Given the description of an element on the screen output the (x, y) to click on. 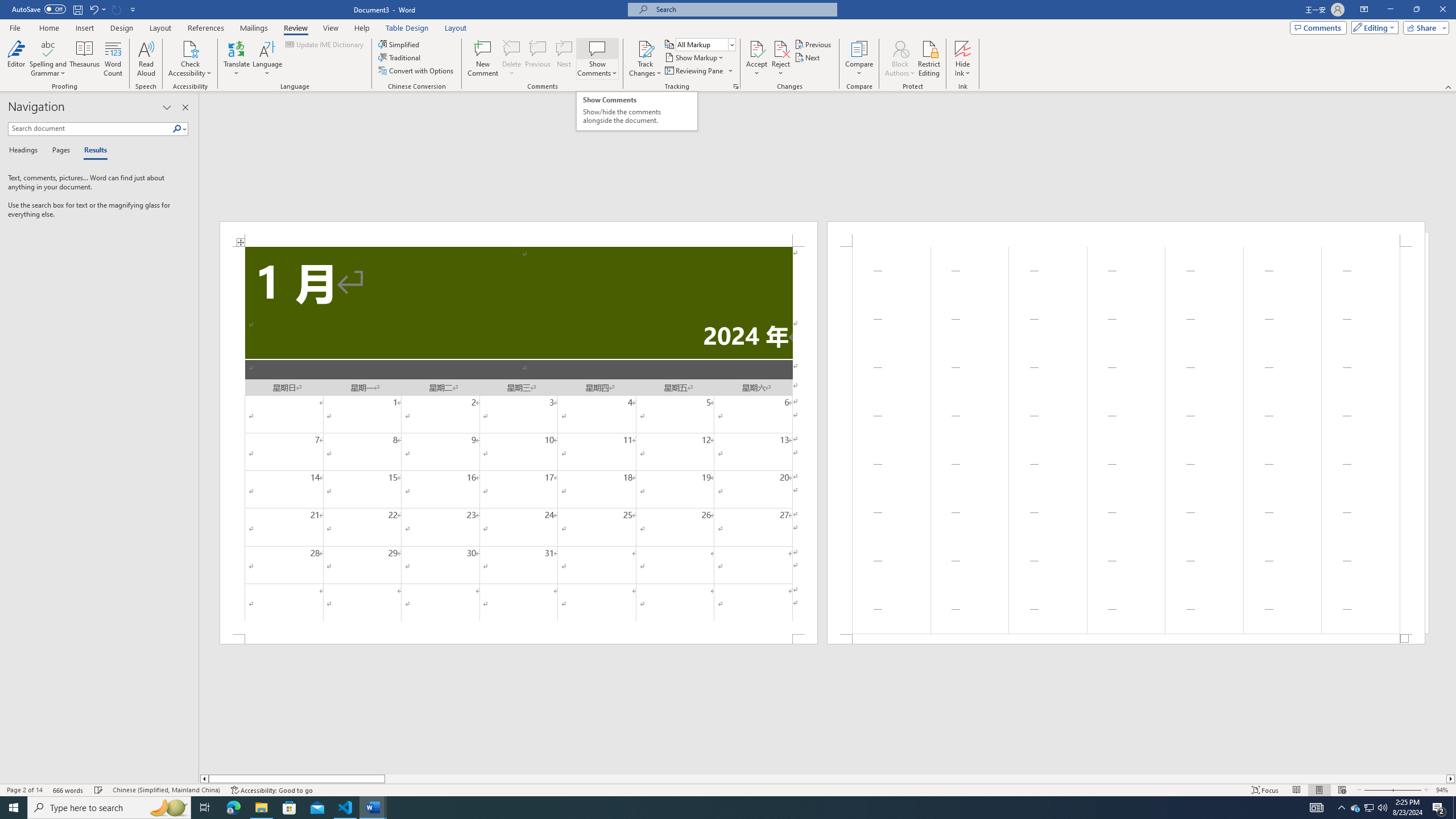
Show Comments (597, 48)
Show Markup (695, 56)
Display for Review (705, 44)
